Given the description of an element on the screen output the (x, y) to click on. 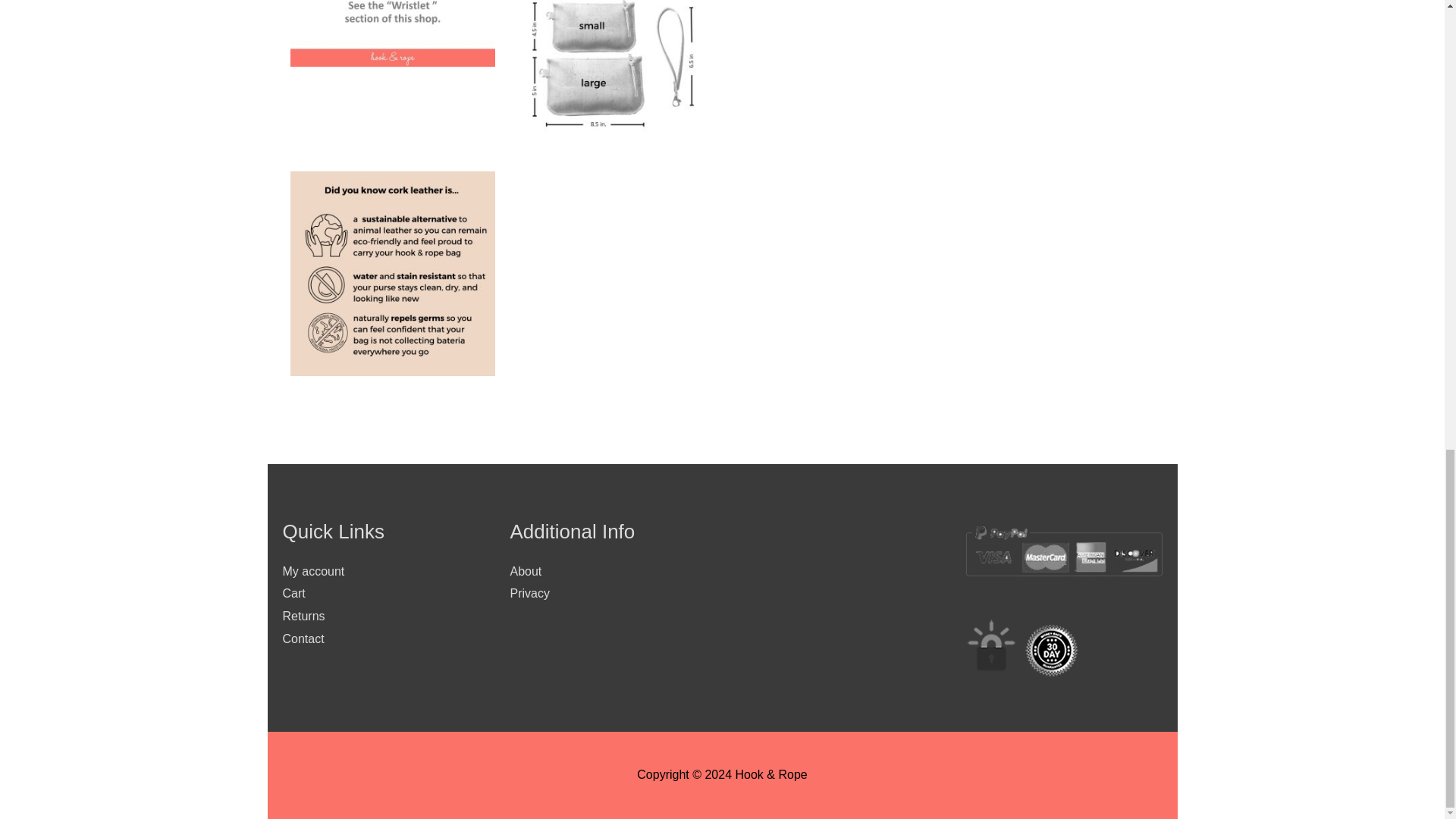
Contact (302, 638)
Privacy (528, 593)
My account (312, 571)
Returns (303, 615)
About (525, 571)
Cart (293, 593)
